Given the description of an element on the screen output the (x, y) to click on. 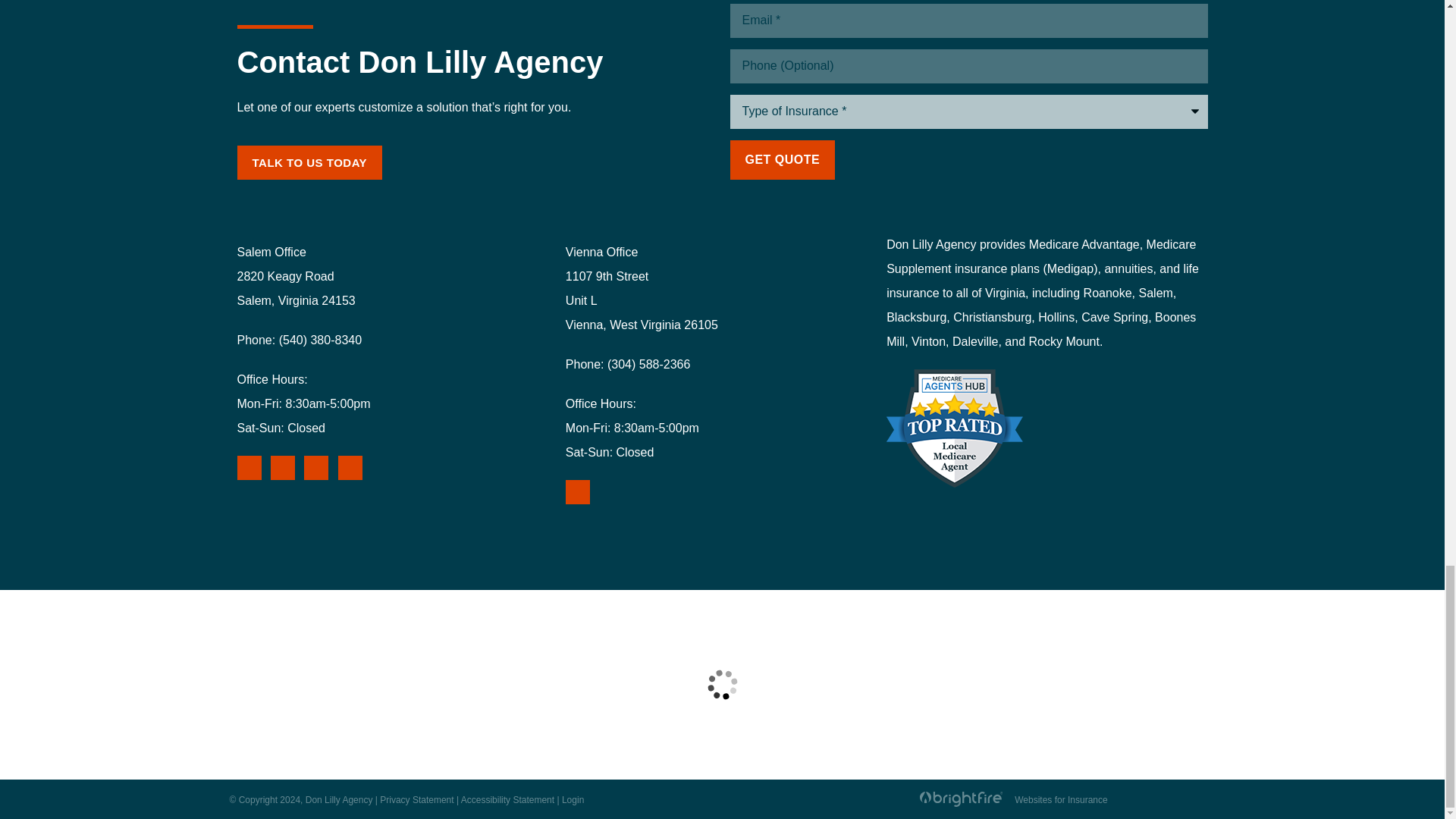
Top Rated Agent on Medicare Agents Hub - Don Lilly III (954, 428)
Get Quote (781, 159)
